Given the description of an element on the screen output the (x, y) to click on. 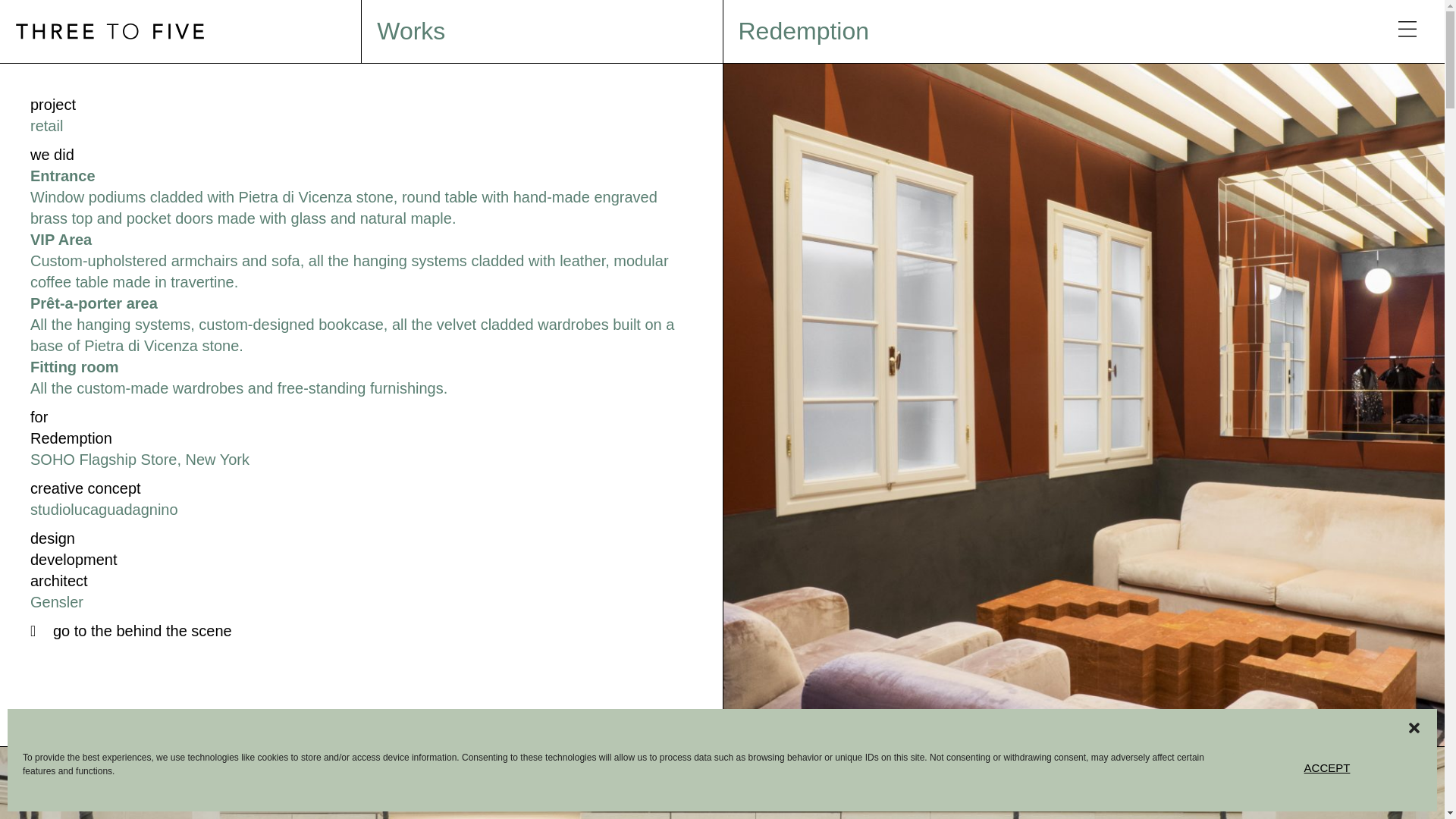
Works (411, 31)
go to the behind the scene (130, 630)
three-to-five (109, 31)
ACCEPT (1326, 767)
uabb-menu-toggle (1406, 30)
Works (411, 31)
